Given the description of an element on the screen output the (x, y) to click on. 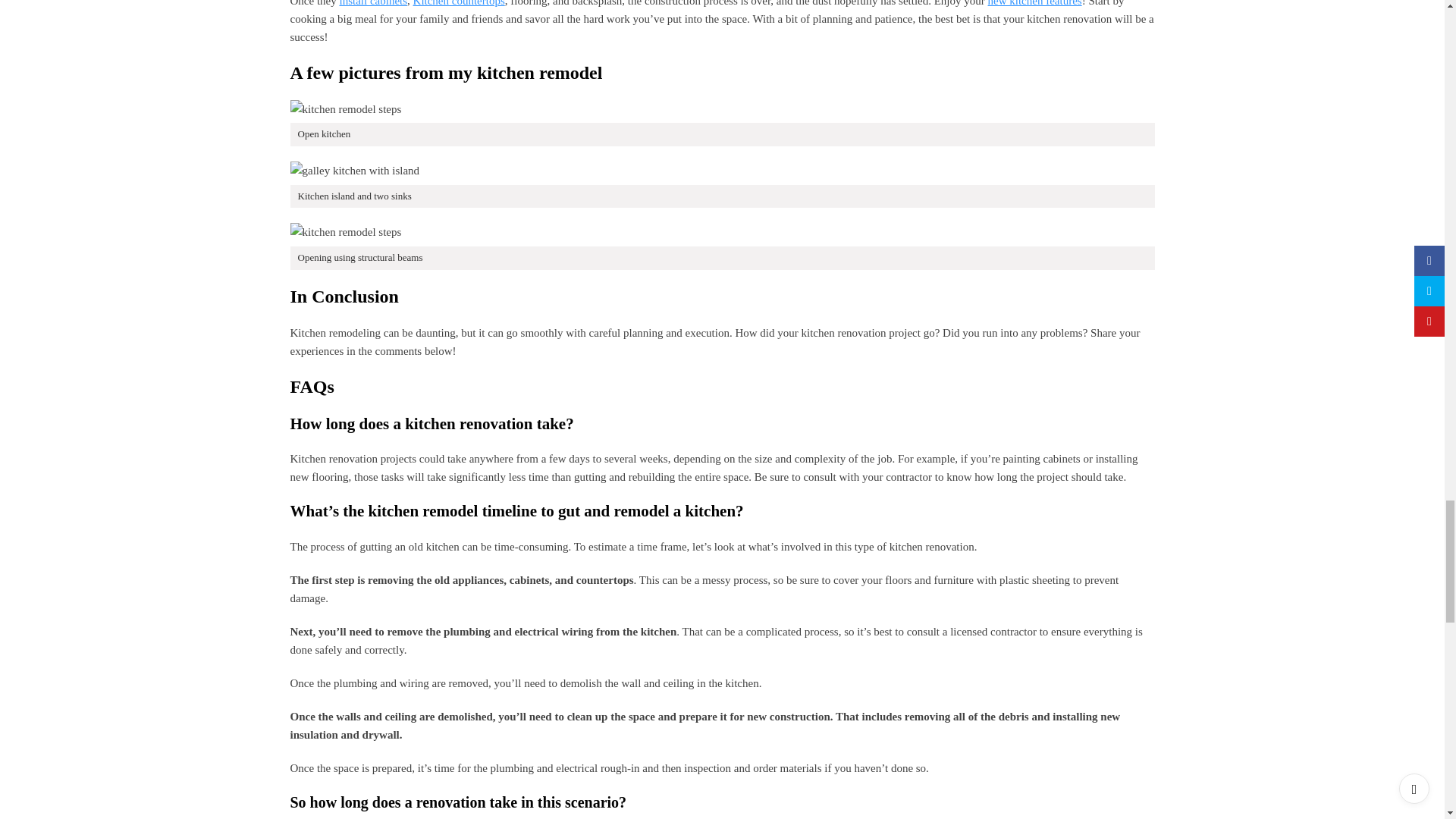
overall (345, 108)
gallery (354, 170)
opening (345, 231)
new kitchen features (1034, 3)
install cabinets (373, 3)
Kitchen countertops (459, 3)
